Given the description of an element on the screen output the (x, y) to click on. 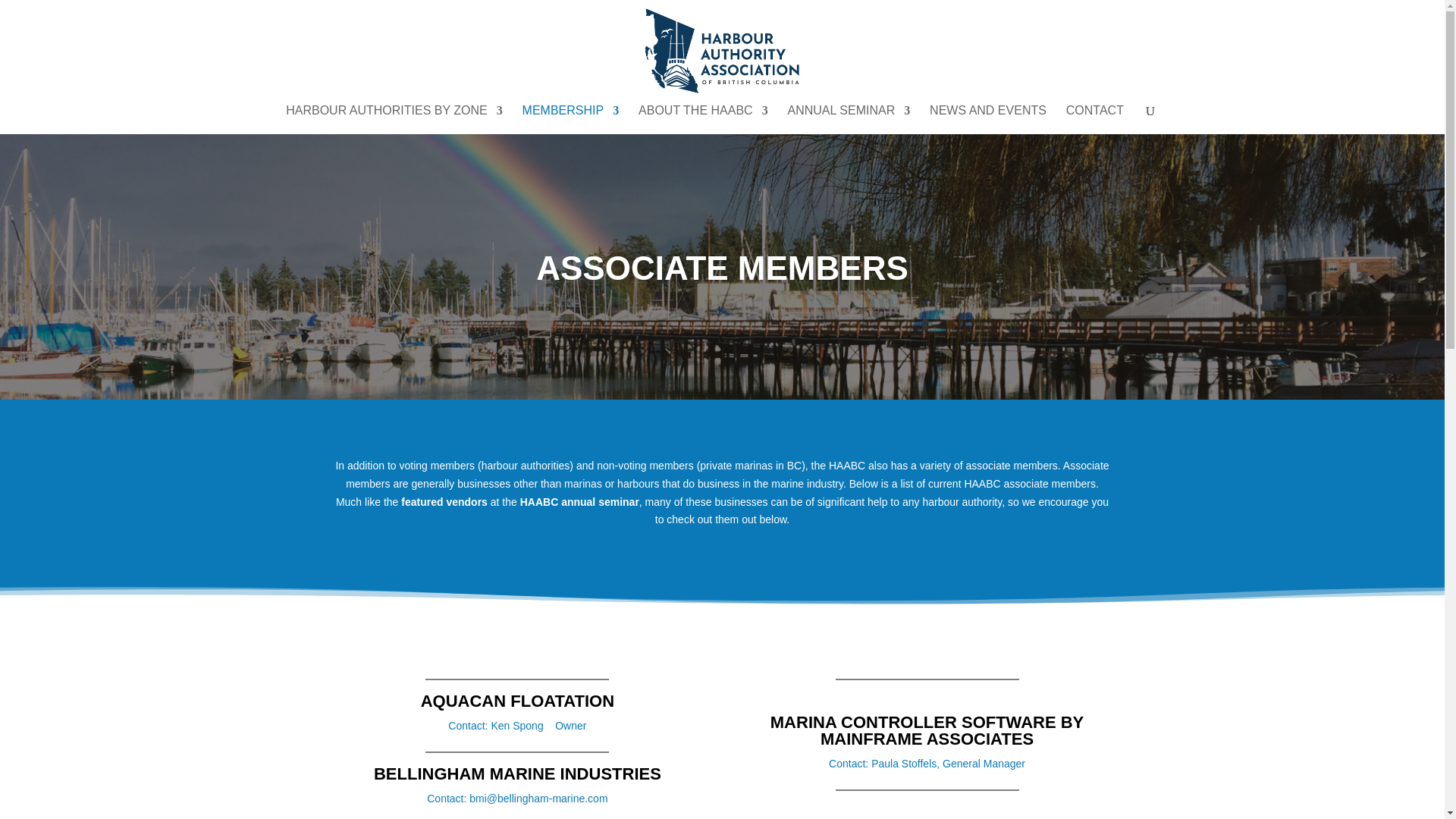
CONTACT (1094, 119)
HARBOUR AUTHORITIES BY ZONE (393, 119)
ABOUT THE HAABC (703, 119)
ANNUAL SEMINAR (849, 119)
NEWS AND EVENTS (988, 119)
MEMBERSHIP (571, 119)
